Given the description of an element on the screen output the (x, y) to click on. 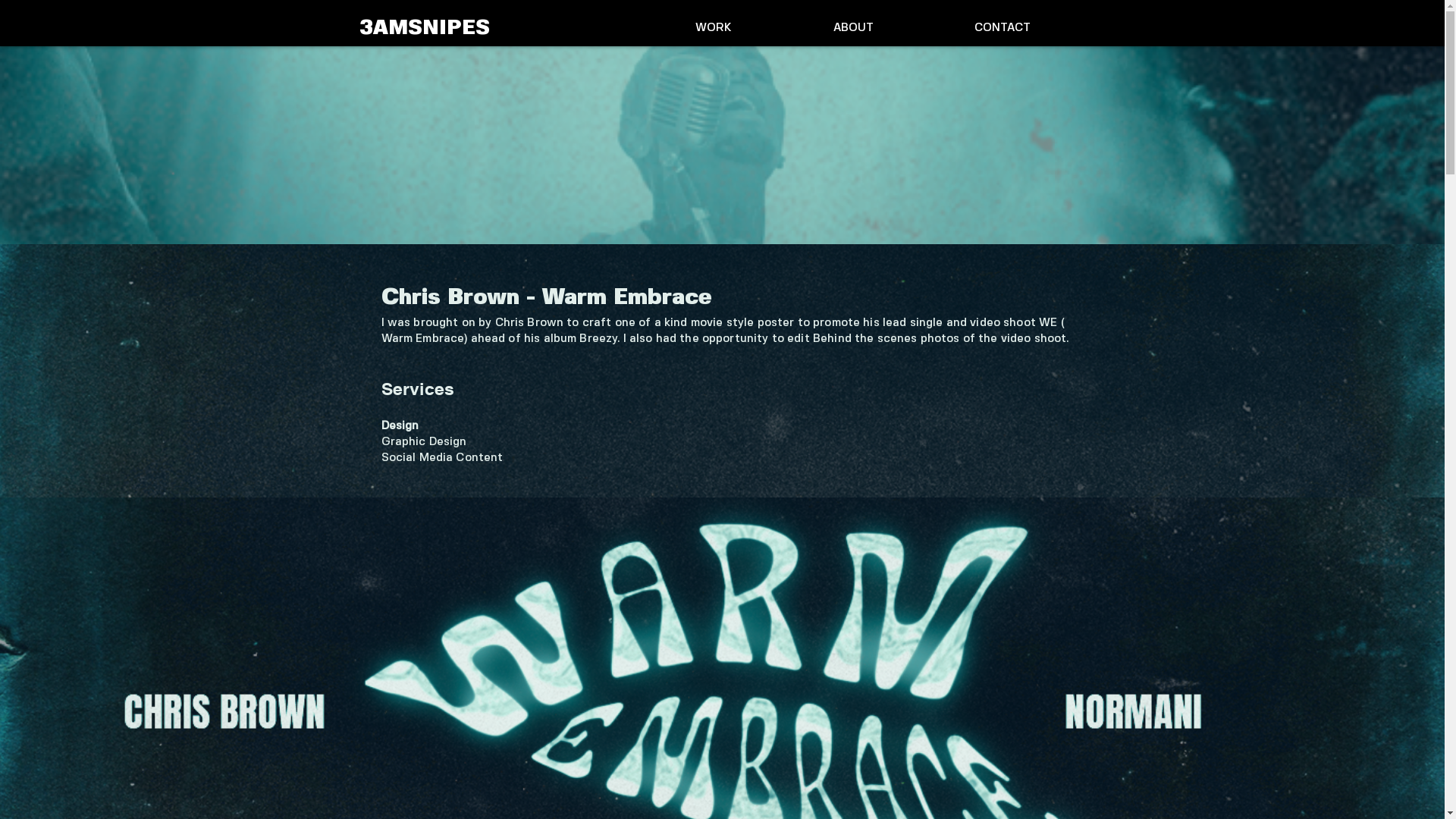
WORK Element type: text (712, 27)
CONTACT Element type: text (1001, 27)
ABOUT Element type: text (852, 27)
3AMSNIPES Element type: text (423, 28)
